Given the description of an element on the screen output the (x, y) to click on. 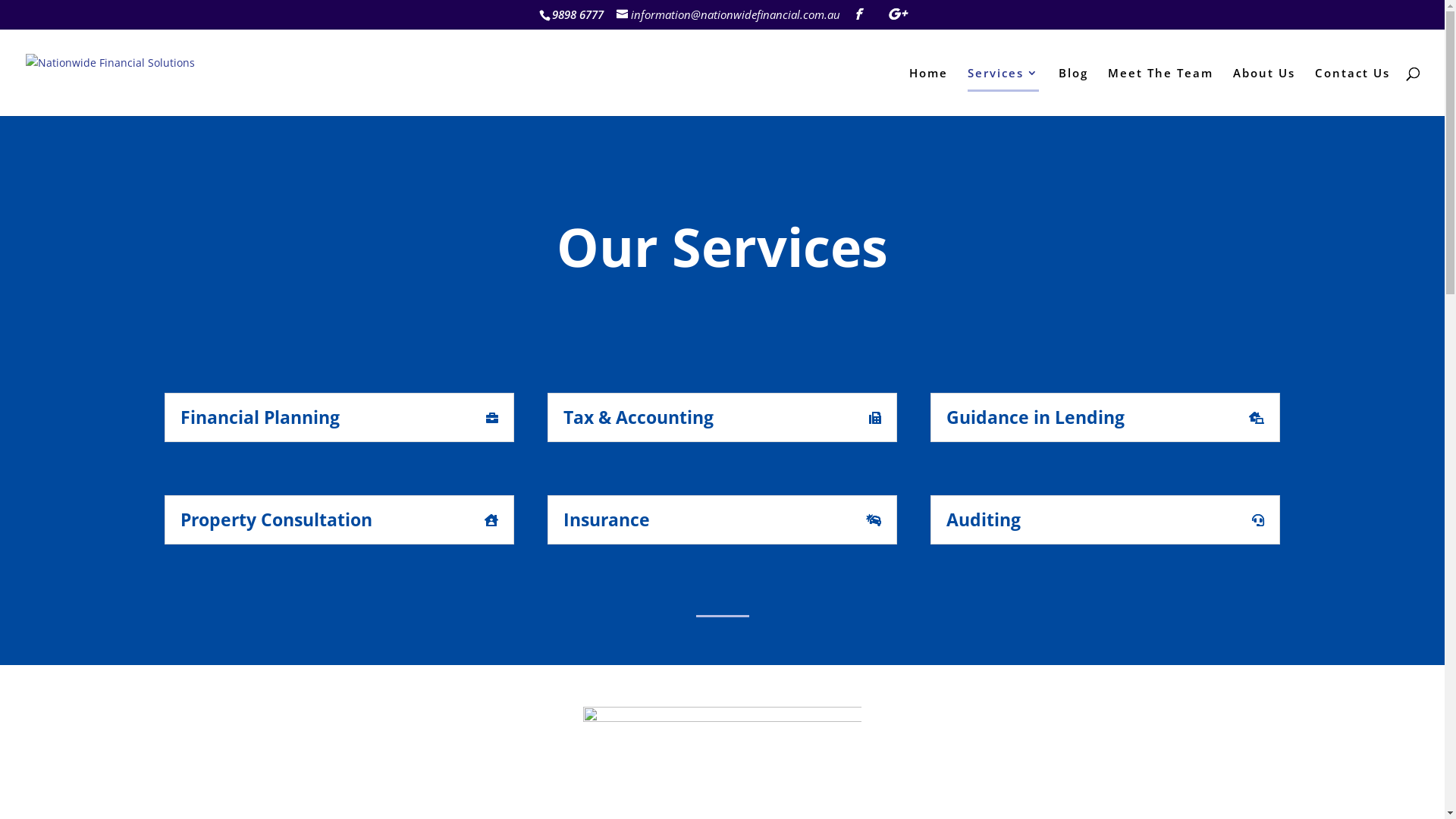
Meet The Team Element type: text (1160, 90)
Blog Element type: text (1073, 90)
Home Element type: text (928, 90)
About Us Element type: text (1264, 90)
Contact Us Element type: text (1352, 90)
information@nationwidefinancial.com.au Element type: text (727, 13)
Services Element type: text (1002, 90)
